Given the description of an element on the screen output the (x, y) to click on. 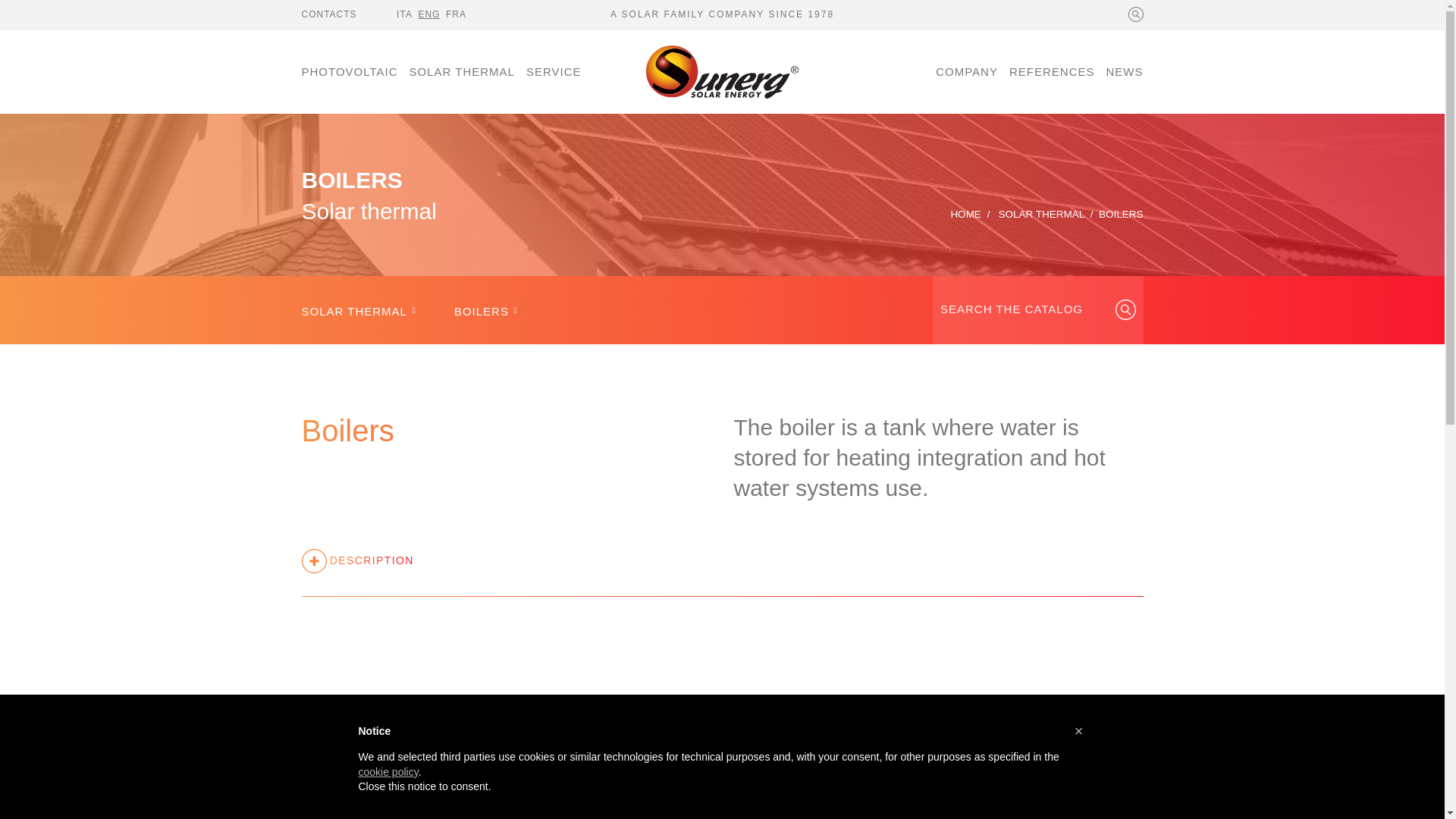
SOLAR THERMAL (461, 72)
ITA (406, 14)
CONTACTS (331, 14)
FRA (458, 14)
ENG (431, 14)
PHOTOVOLTAIC (352, 72)
